Given the description of an element on the screen output the (x, y) to click on. 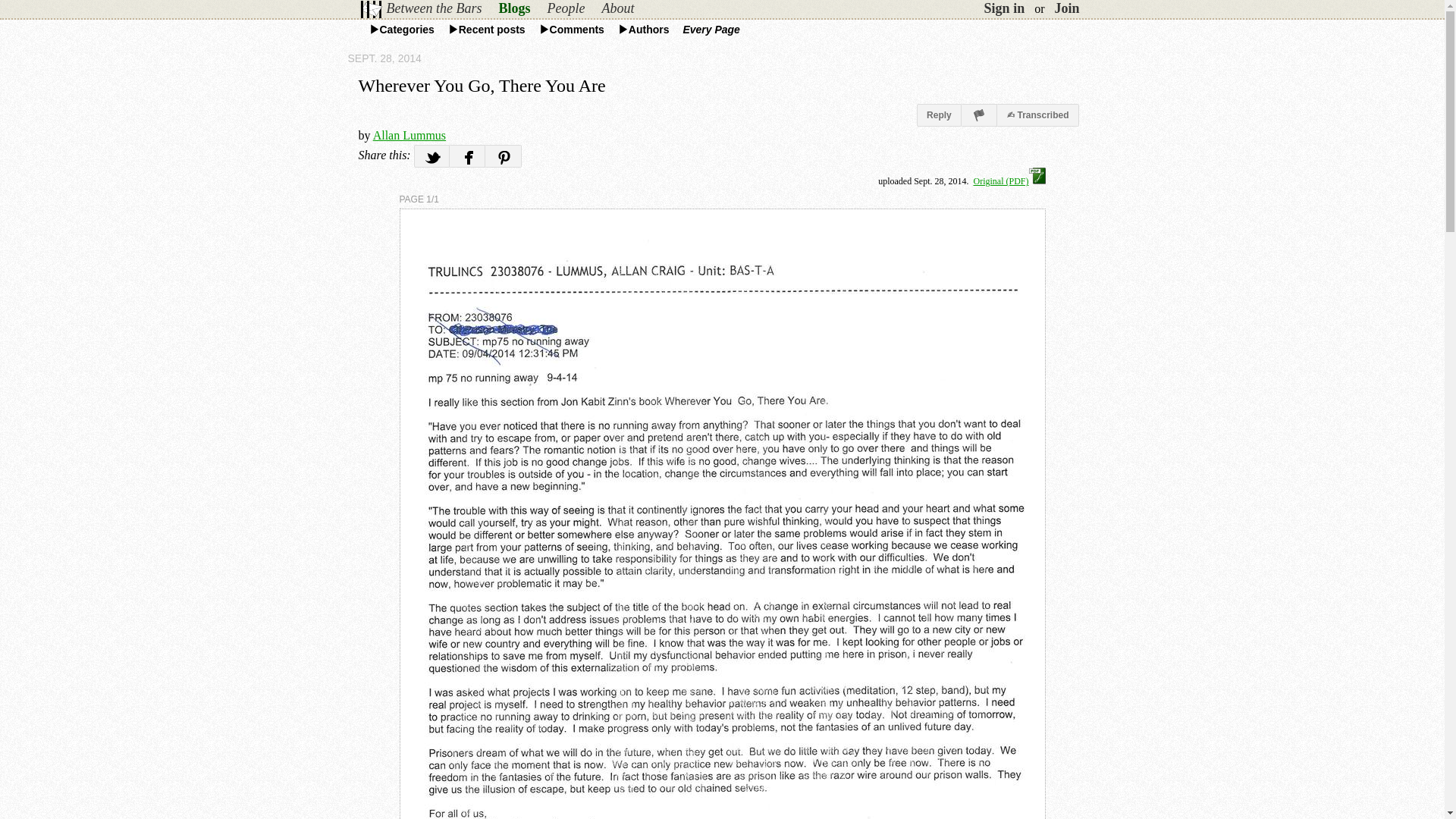
Share on twitter (431, 155)
Join (1066, 7)
Share on Pinterest (502, 155)
Categories (406, 29)
Between the Bars (432, 7)
Sign in (1004, 7)
Click to read the transcription (1037, 115)
Authors (648, 29)
Recent posts (491, 29)
Every Page (716, 29)
